Given the description of an element on the screen output the (x, y) to click on. 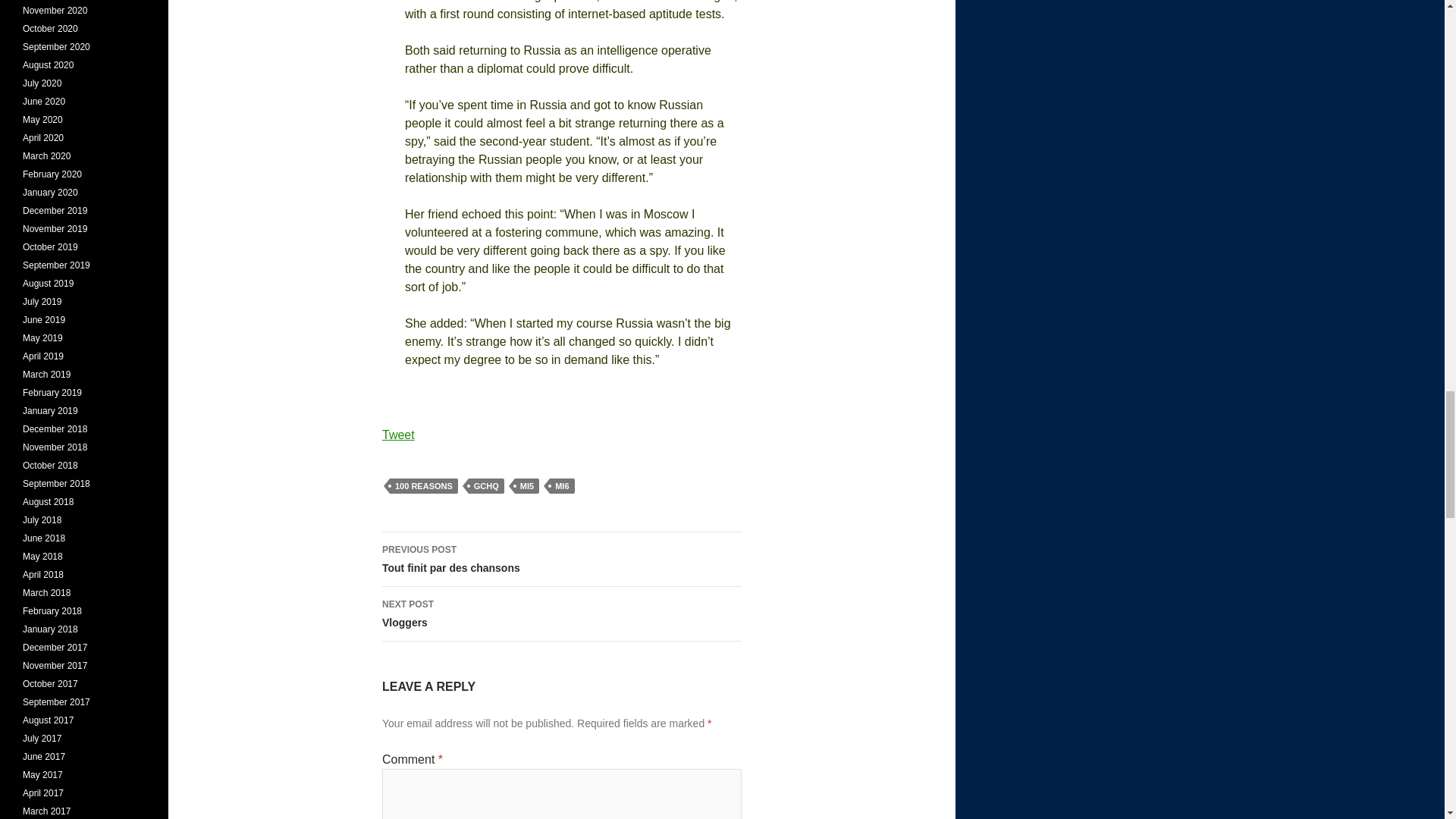
Tweet (397, 434)
MI6 (561, 485)
GCHQ (485, 485)
100 REASONS (561, 559)
MI5 (561, 614)
